Given the description of an element on the screen output the (x, y) to click on. 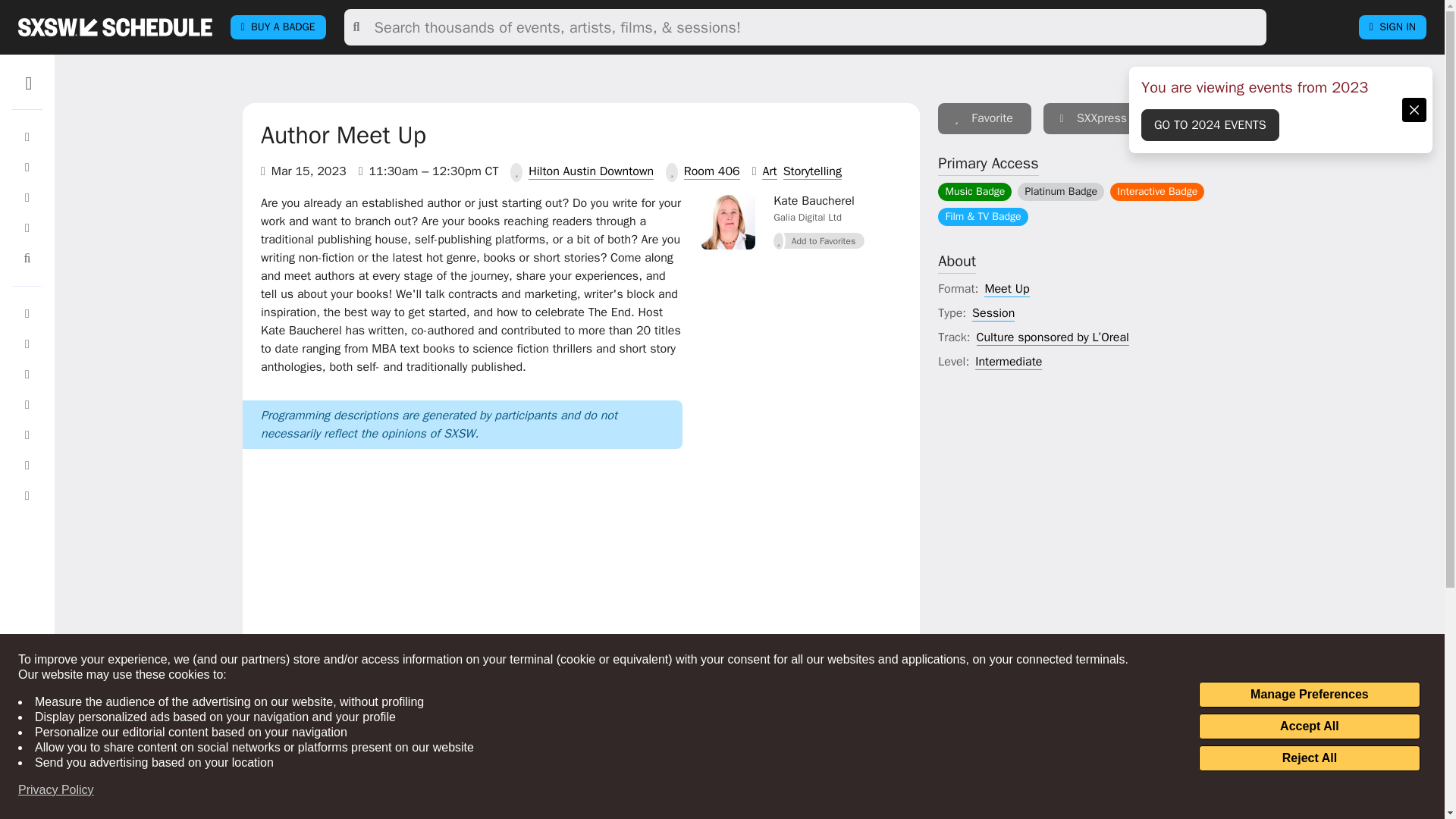
Privacy Policy (55, 789)
GO TO 2024 EVENTS (1210, 124)
Reject All (1309, 758)
SIGN IN (1392, 27)
Accept All (1309, 726)
BUY A BADGE (278, 27)
sxsw SCHEDULE (114, 27)
Manage Preferences (1309, 694)
Sign In to add to your favorites. (983, 118)
Sign In to add to your favorites. (818, 240)
